Given the description of an element on the screen output the (x, y) to click on. 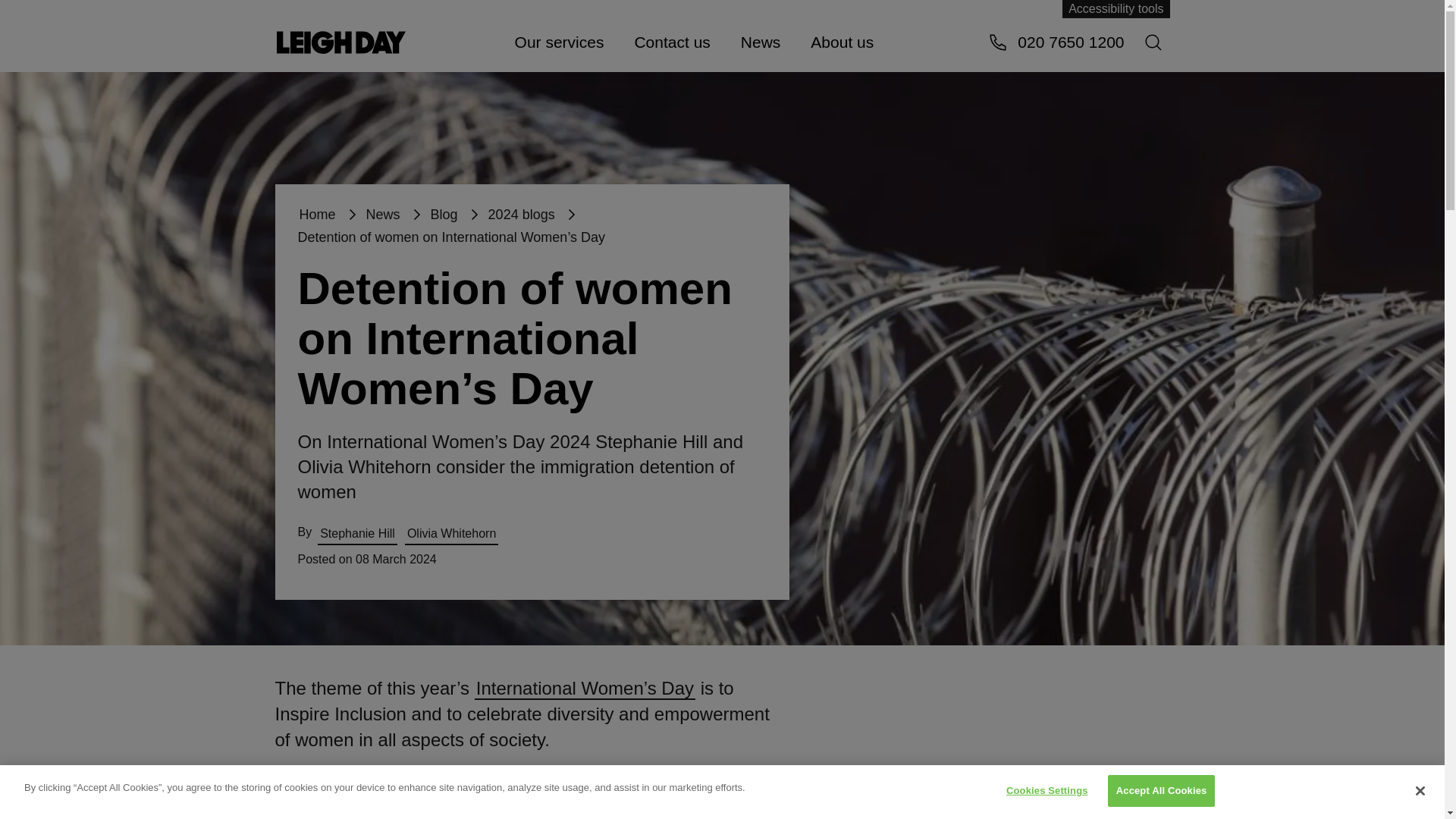
Our services (558, 41)
Accessibility tools (1115, 9)
International Women's Day website (584, 689)
Accessibility tools (1115, 9)
